Given the description of an element on the screen output the (x, y) to click on. 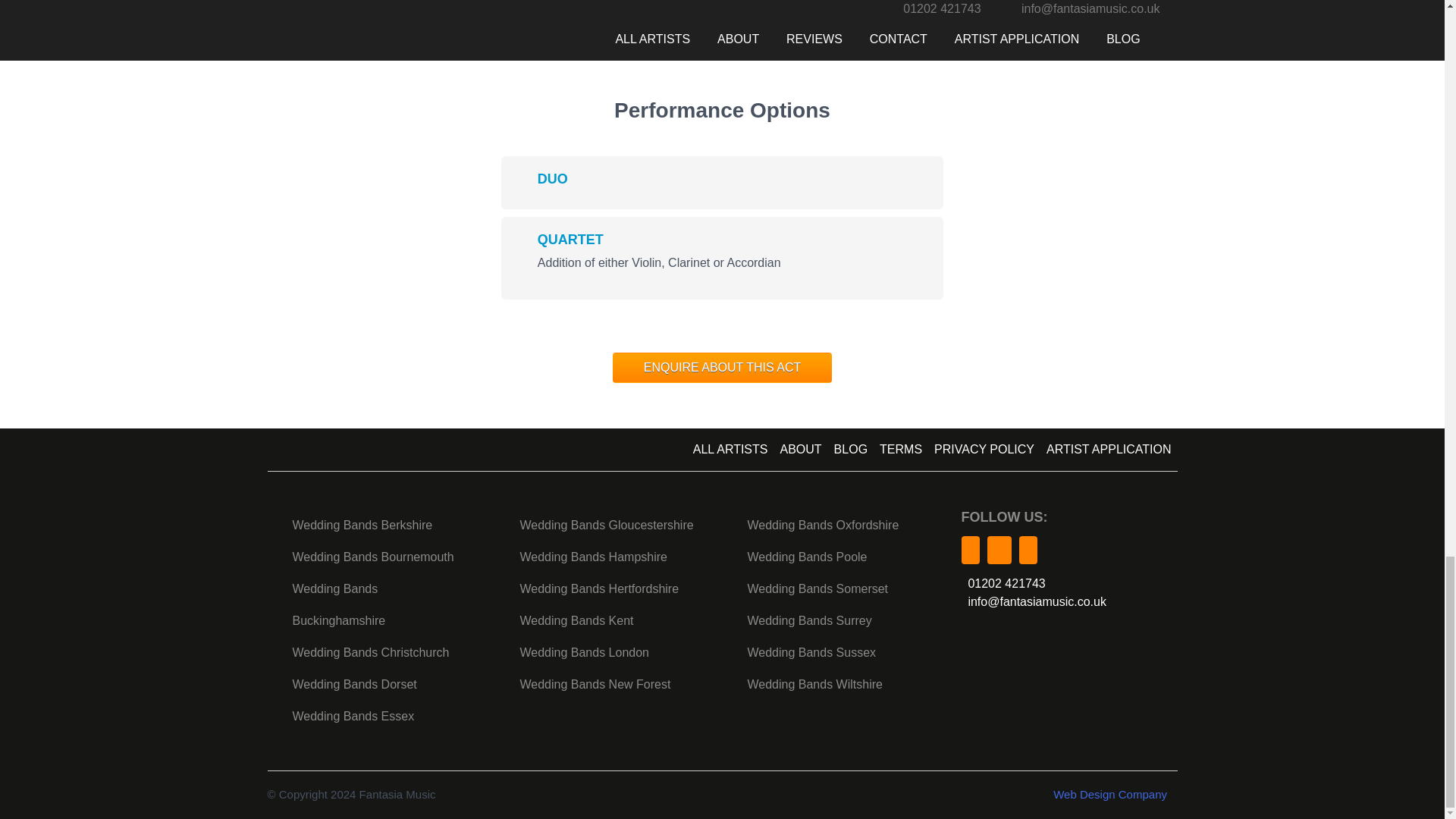
Blog (850, 449)
ENQUIRE ABOUT THIS ACT (721, 367)
Terms (900, 449)
About (800, 449)
All Artists (730, 449)
